Given the description of an element on the screen output the (x, y) to click on. 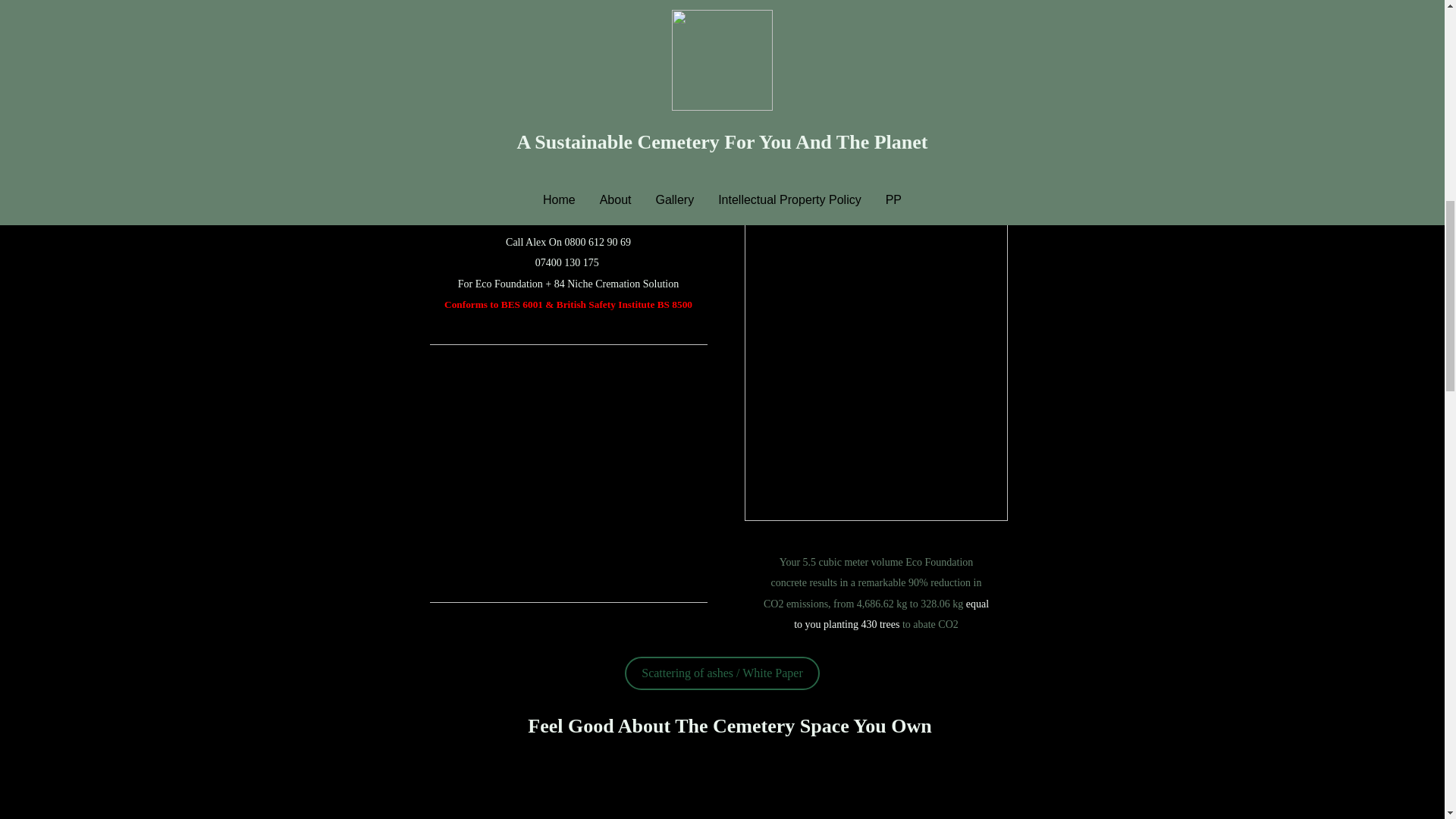
www.tlmgco.com (762, 176)
